Given the description of an element on the screen output the (x, y) to click on. 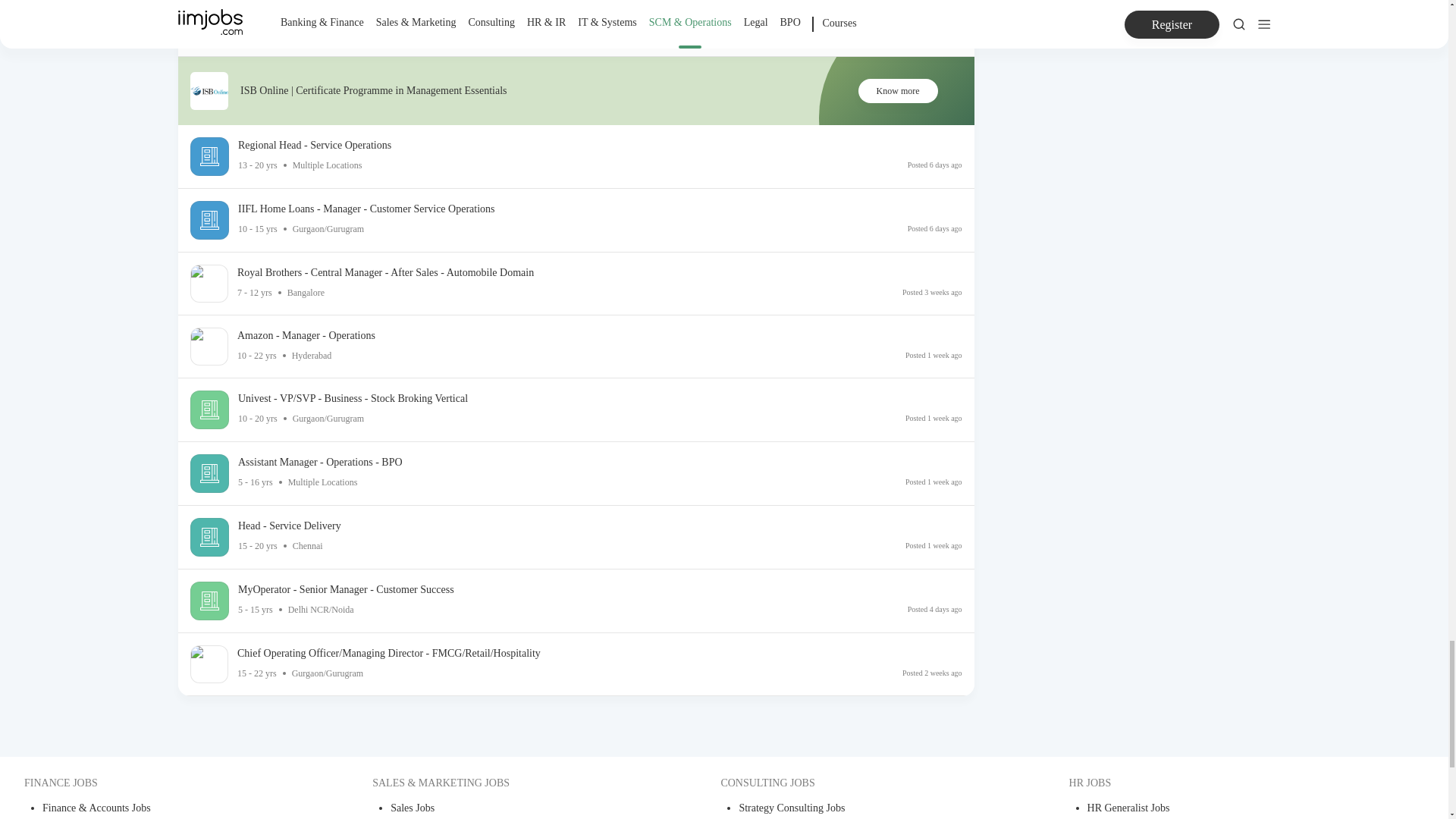
Sales Jobs (521, 809)
